Given the description of an element on the screen output the (x, y) to click on. 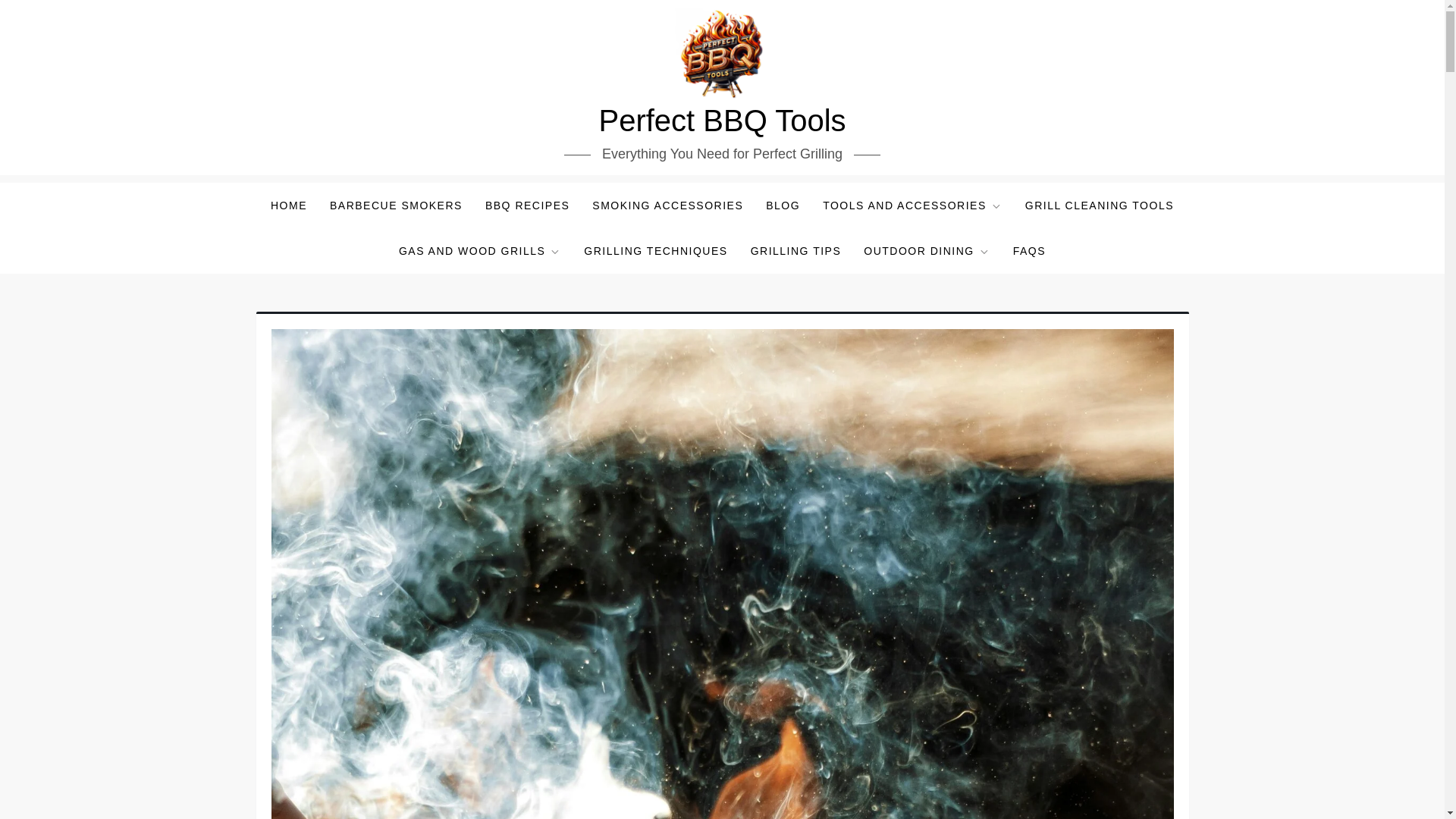
BBQ RECIPES (527, 205)
GRILLING TECHNIQUES (655, 250)
FAQS (1029, 250)
OUTDOOR DINING (926, 250)
Perfect BBQ Tools (721, 120)
HOME (288, 205)
GRILLING TIPS (796, 250)
SMOKING ACCESSORIES (667, 205)
GRILL CLEANING TOOLS (1099, 205)
BARBECUE SMOKERS (396, 205)
